Given the description of an element on the screen output the (x, y) to click on. 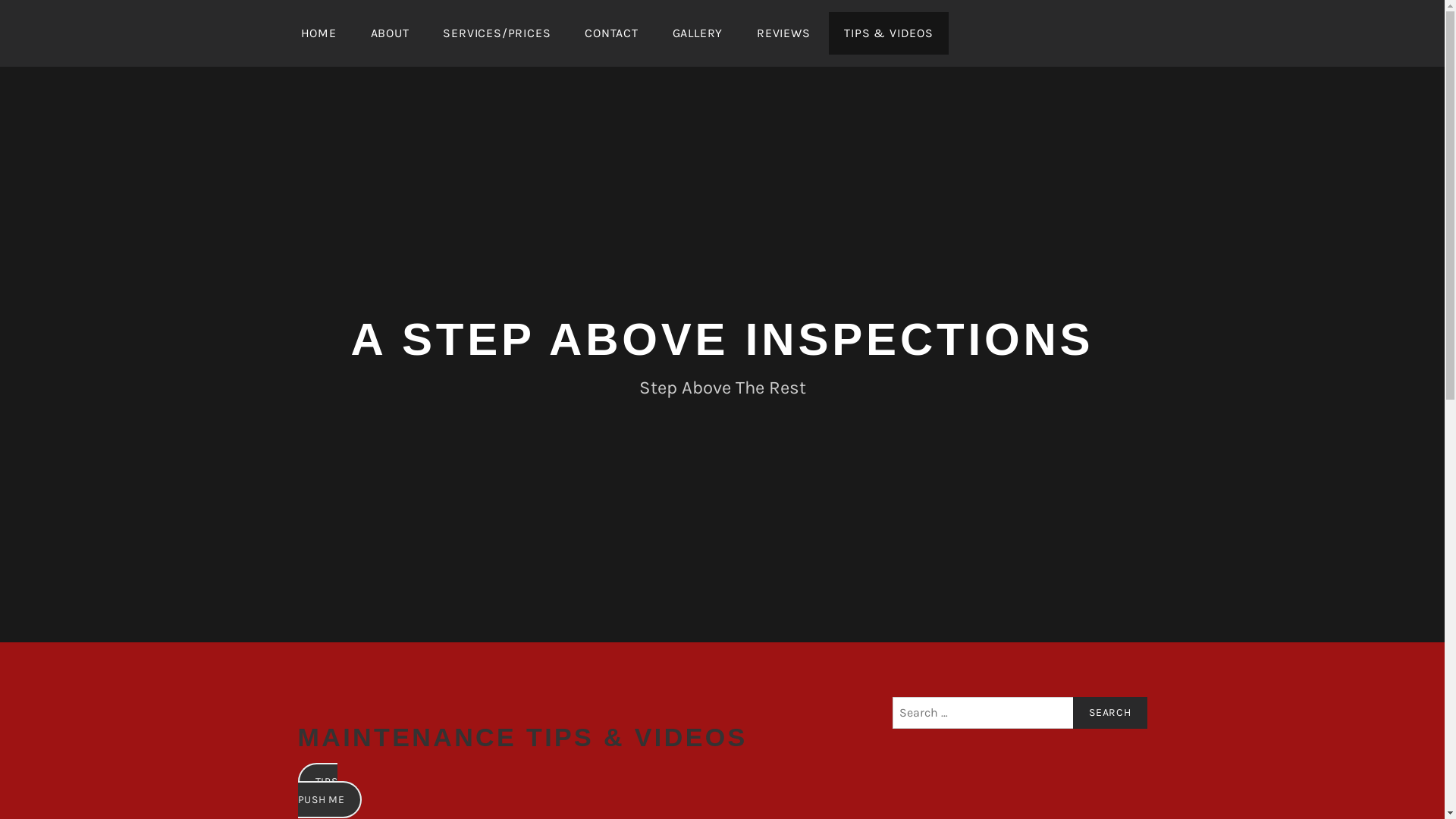
TIPS & VIDEOS Element type: text (887, 33)
TIPS
PUSH ME Element type: text (329, 790)
REVIEWS Element type: text (783, 33)
A STEP ABOVE INSPECTIONS Element type: text (722, 338)
ABOUT Element type: text (389, 33)
CONTACT Element type: text (611, 33)
SERVICES/PRICES Element type: text (496, 33)
HOME Element type: text (318, 33)
Skip to content Element type: text (0, 0)
GALLERY Element type: text (697, 33)
Search Element type: text (1109, 712)
